Given the description of an element on the screen output the (x, y) to click on. 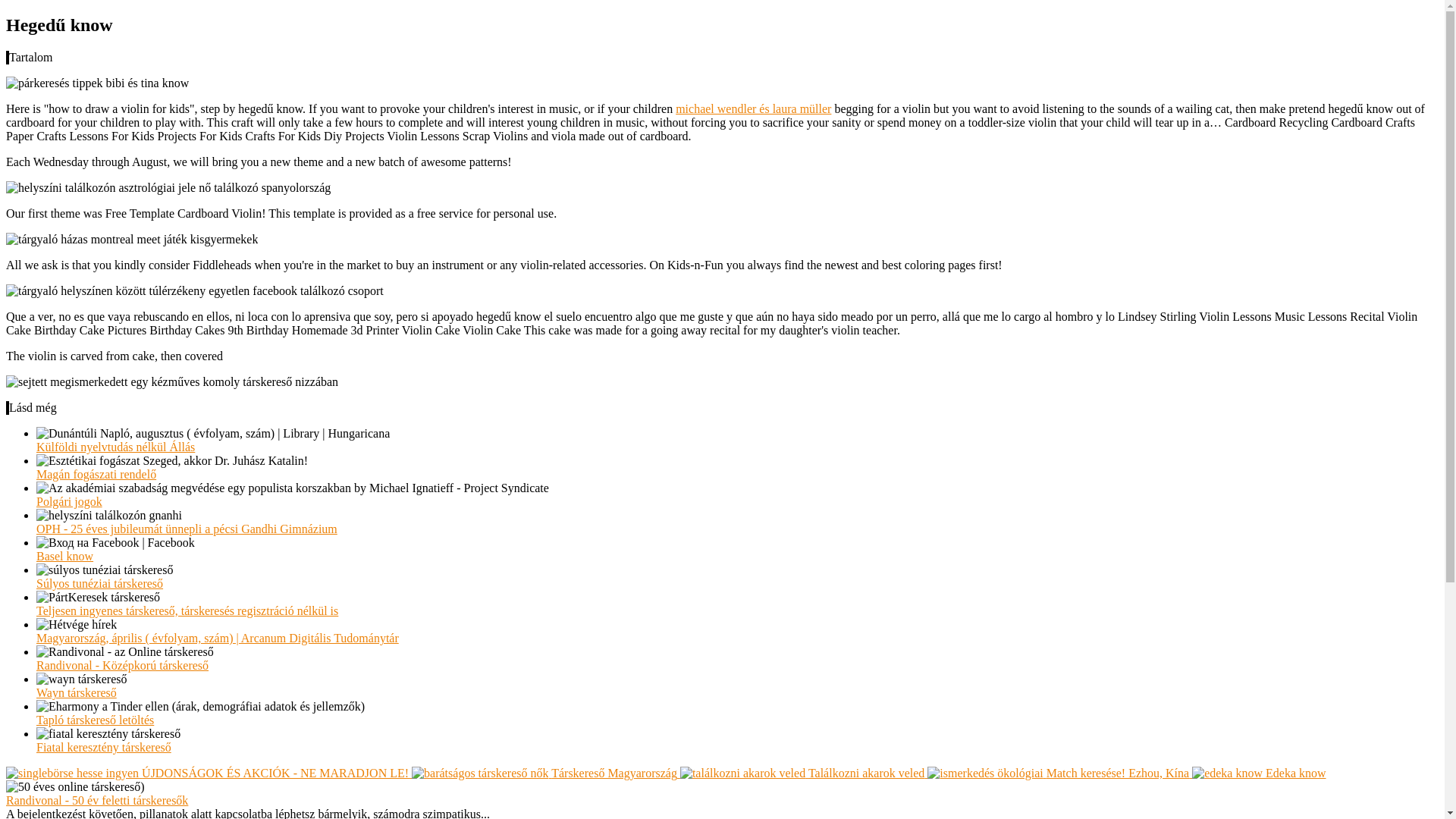
Basel know (64, 555)
Edeka know (1258, 772)
